Given the description of an element on the screen output the (x, y) to click on. 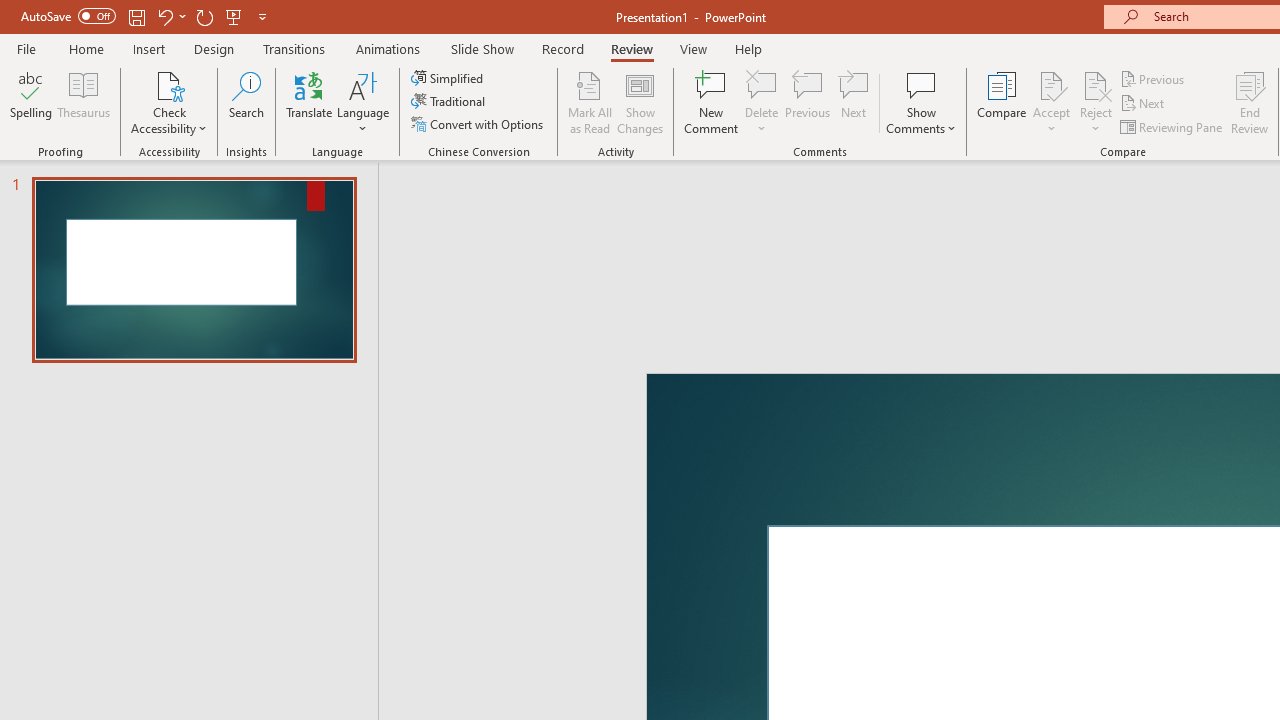
Reject (1096, 102)
Insert (149, 48)
Animations (388, 48)
Check Accessibility (169, 102)
Thesaurus... (83, 102)
File Tab (26, 48)
Compare (1002, 102)
Home (86, 48)
Redo (204, 15)
Undo (170, 15)
Design (214, 48)
Delete (762, 84)
Customize Quick Access Toolbar (262, 15)
Quick Access Toolbar (145, 16)
Previous (1153, 78)
